Given the description of an element on the screen output the (x, y) to click on. 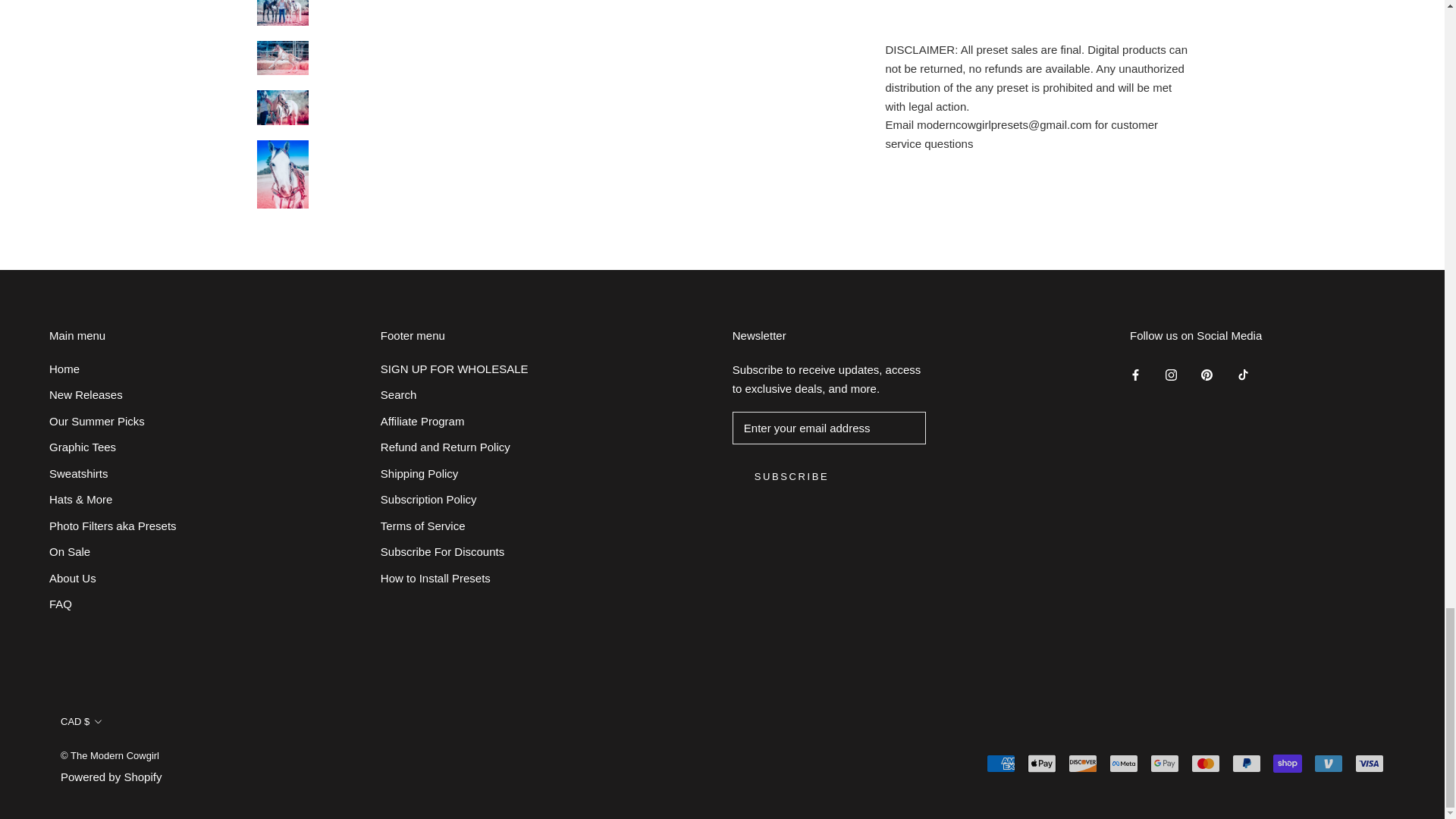
Google Pay (1164, 763)
American Express (1000, 763)
Mastercard (1205, 763)
Shop Pay (1286, 763)
PayPal (1245, 763)
Visa (1369, 763)
Venmo (1328, 763)
Apple Pay (1042, 763)
Meta Pay (1123, 763)
Discover (1082, 763)
